Given the description of an element on the screen output the (x, y) to click on. 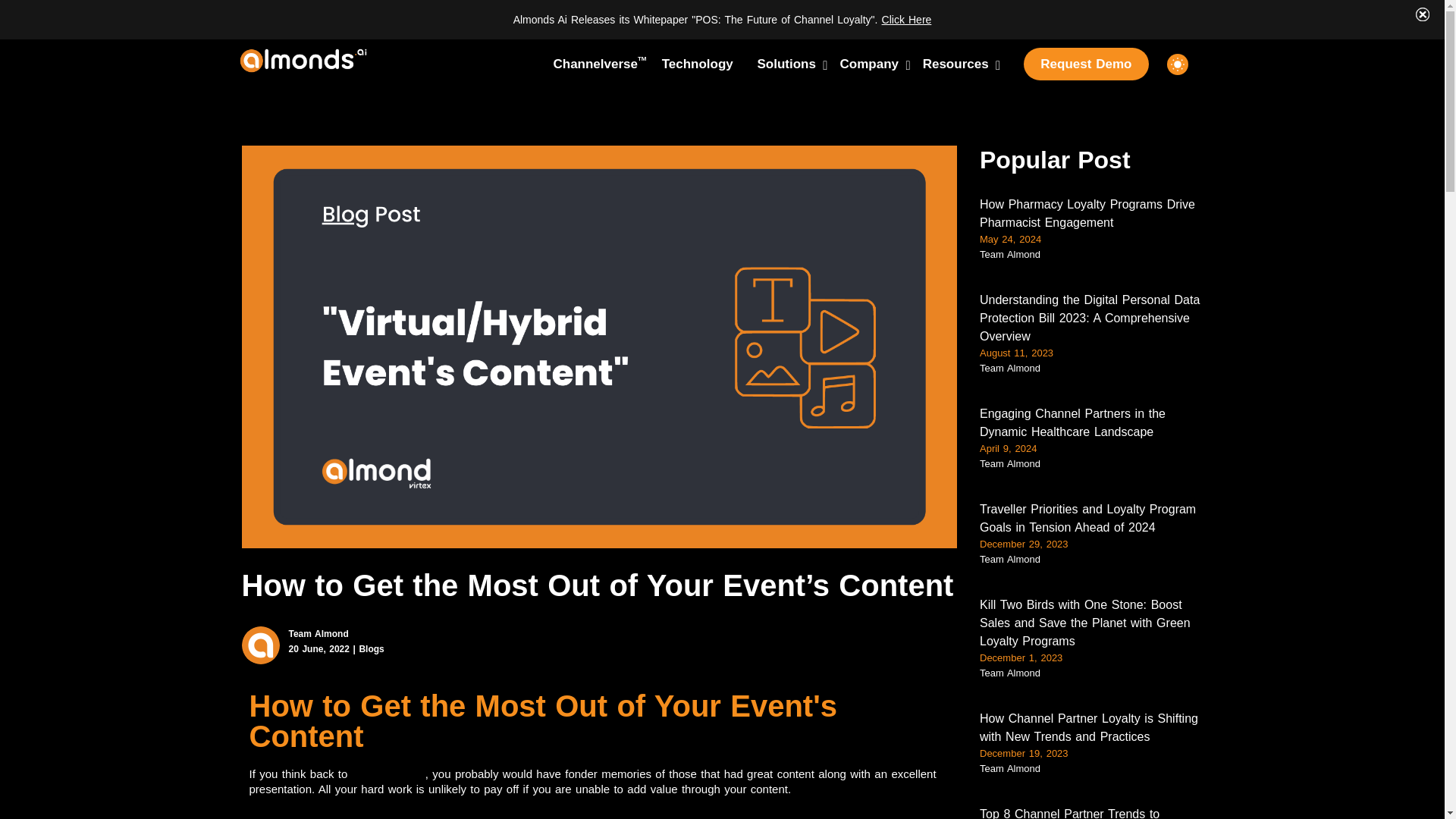
Request Demo (1086, 63)
Company (595, 63)
Technology (869, 63)
Resources (697, 63)
Solutions (955, 63)
Click Here (786, 63)
